Given the description of an element on the screen output the (x, y) to click on. 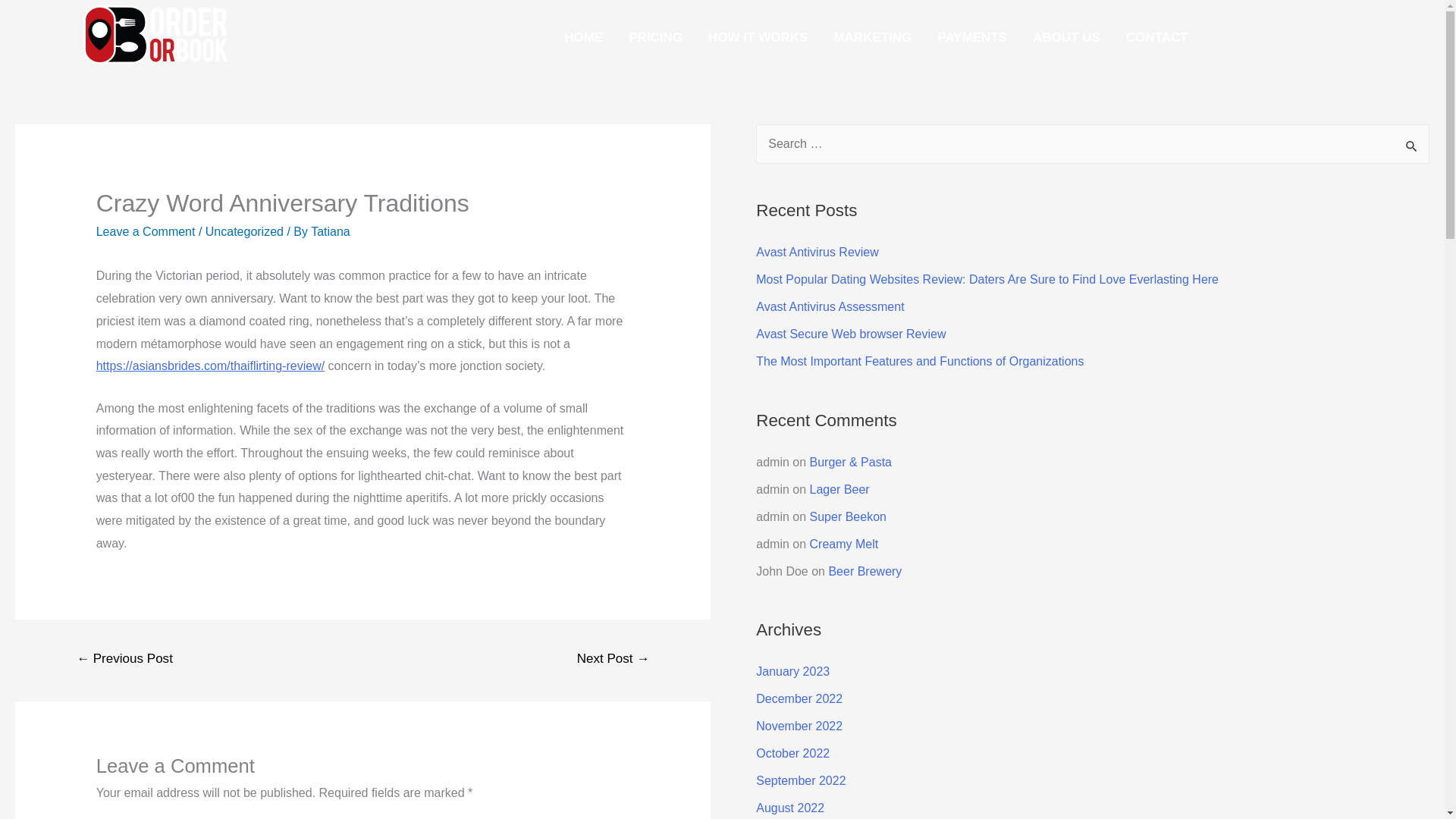
Avast Secure Web browser Review (849, 333)
PRICING (655, 37)
CONTACT (1157, 37)
October 2022 (792, 753)
Leave a Comment (145, 231)
View all posts by Tatiana (330, 231)
PAYMENTS (972, 37)
December 2022 (799, 698)
January 2023 (792, 671)
Creamy Melt (844, 543)
Super Beekon (847, 516)
HOW IT WORKS (758, 37)
MARKETING (872, 37)
Tatiana (330, 231)
